Given the description of an element on the screen output the (x, y) to click on. 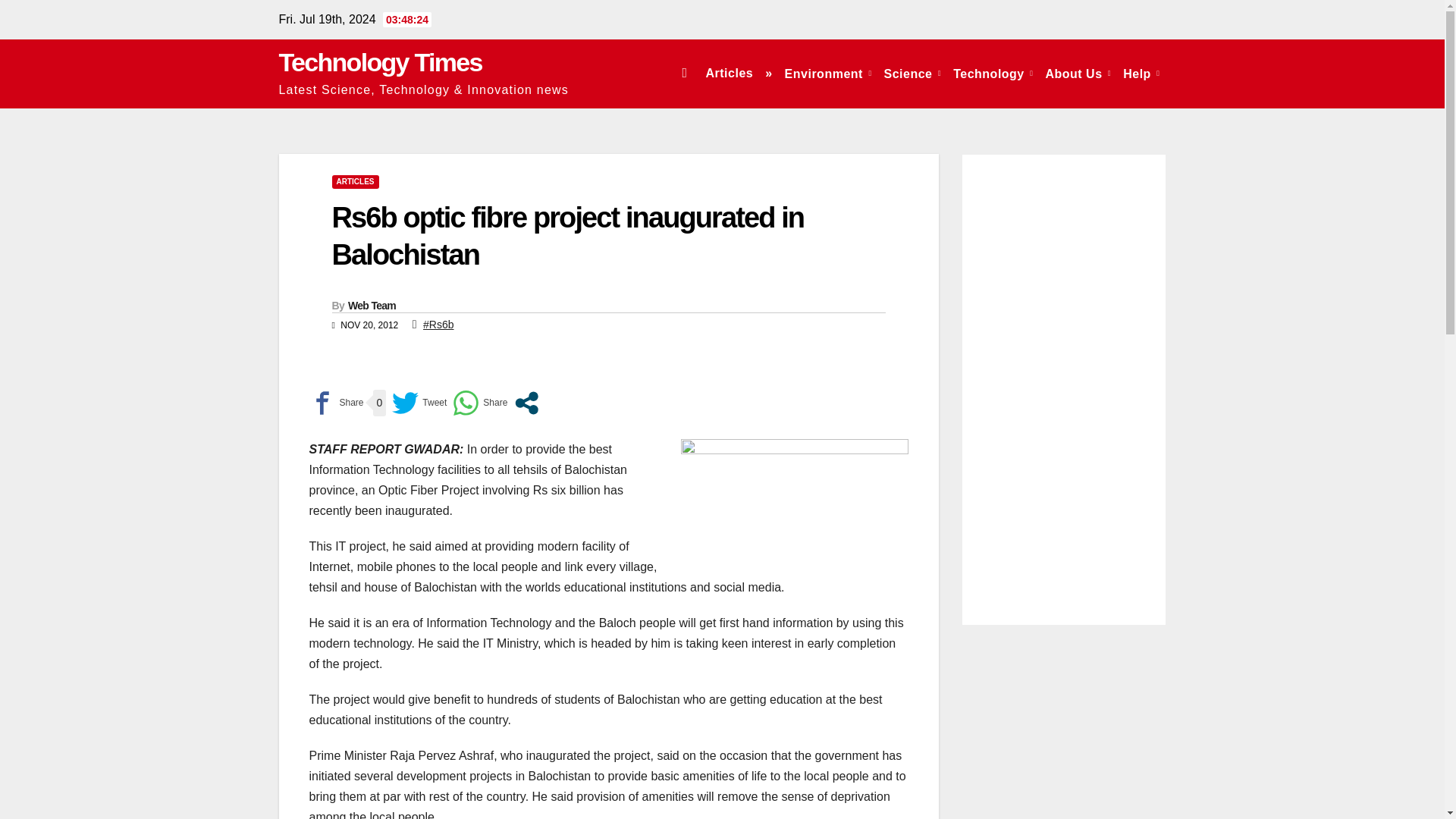
Science (912, 73)
Help (1141, 73)
Environment (827, 73)
Environment (827, 73)
Articles (728, 73)
Technology Times (380, 61)
Technology (993, 73)
Technology (993, 73)
About Us (1077, 73)
Articles (728, 73)
Science (912, 73)
